Given the description of an element on the screen output the (x, y) to click on. 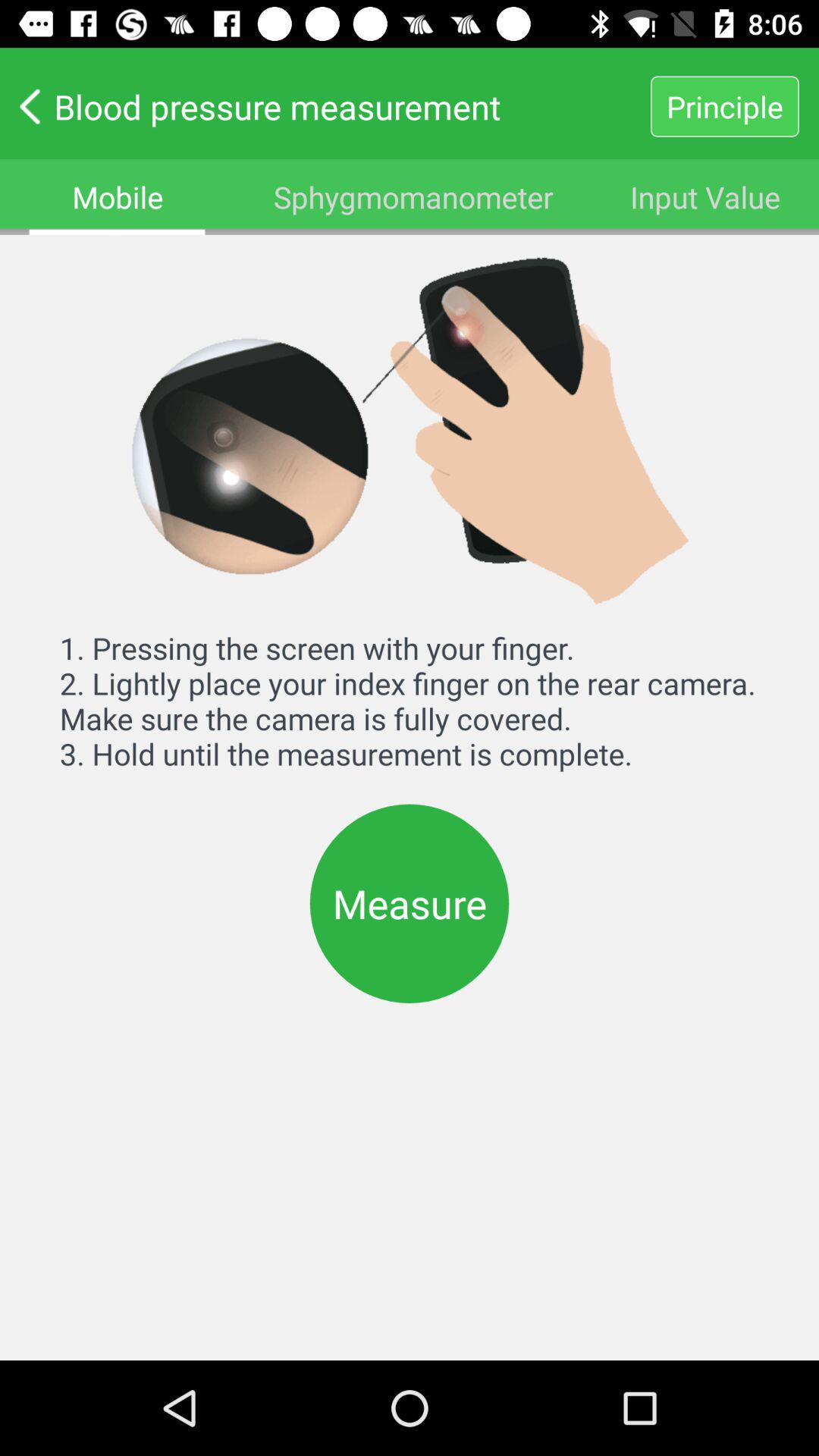
scroll to the sphygmomanometer item (413, 196)
